Given the description of an element on the screen output the (x, y) to click on. 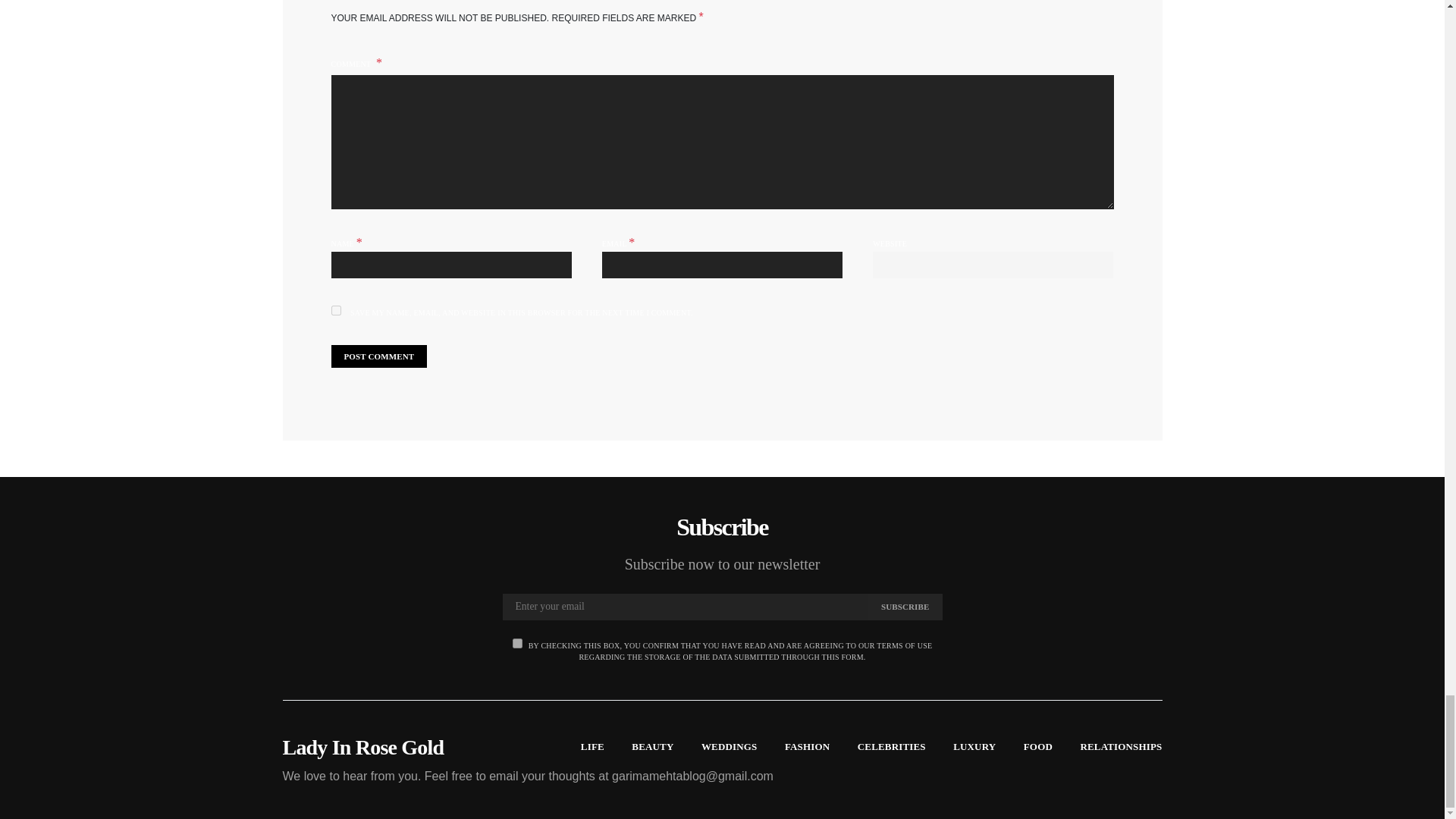
on (517, 643)
yes (335, 310)
Post Comment (378, 356)
